Given the description of an element on the screen output the (x, y) to click on. 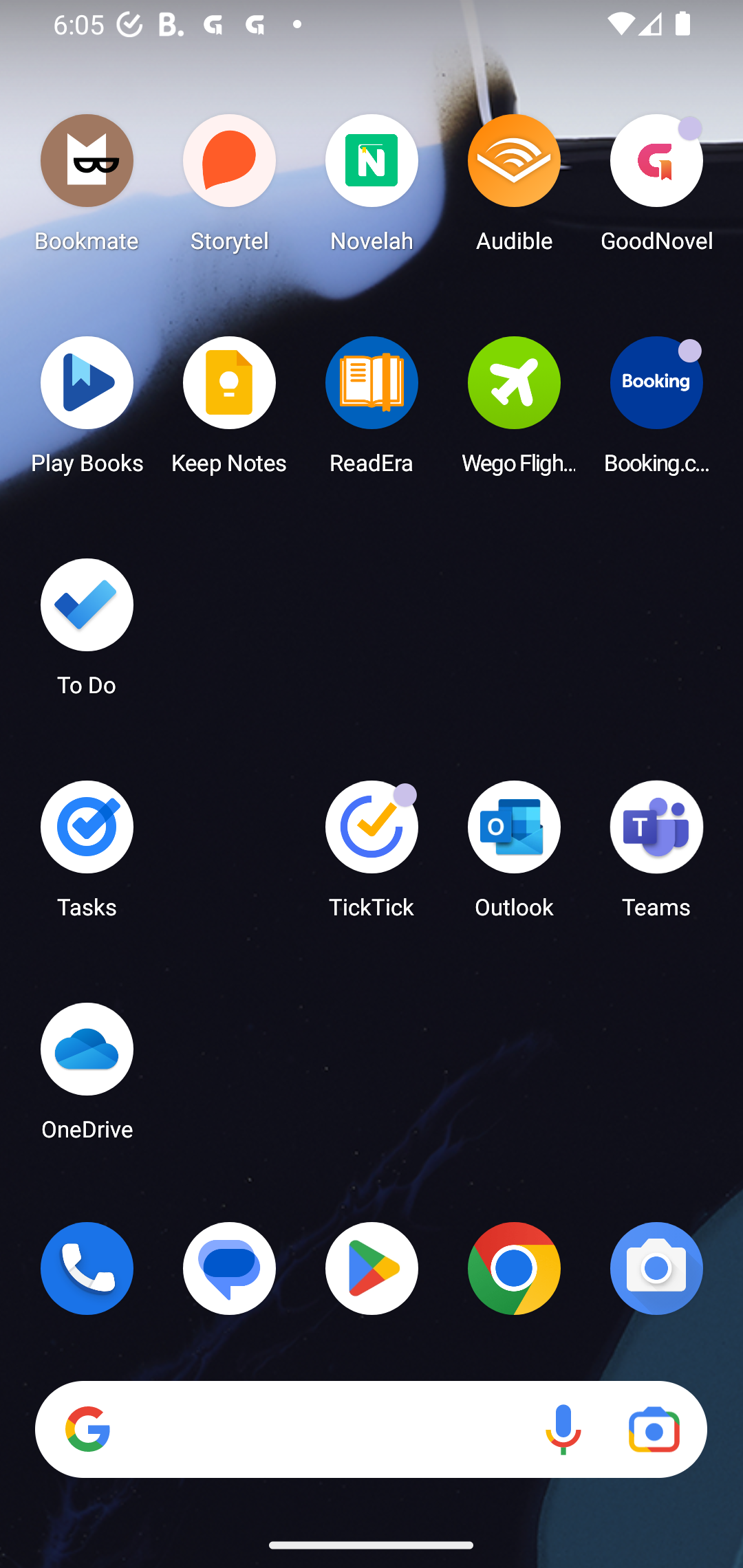
Bookmate (86, 188)
Storytel (229, 188)
Novelah (371, 188)
Audible (513, 188)
GoodNovel GoodNovel has 19 notifications (656, 188)
Play Books (86, 410)
Keep Notes (229, 410)
ReadEra (371, 410)
Wego Flights & Hotels (513, 410)
Booking.com Booking.com has 1 notification (656, 410)
To Do (86, 633)
Tasks (86, 854)
TickTick TickTick has 3 notifications (371, 854)
Outlook (513, 854)
Teams (656, 854)
OneDrive (86, 1076)
Phone (86, 1268)
Messages (229, 1268)
Play Store (371, 1268)
Chrome (513, 1268)
Camera (656, 1268)
Search Voice search Google Lens (370, 1429)
Voice search (562, 1429)
Google Lens (653, 1429)
